Given the description of an element on the screen output the (x, y) to click on. 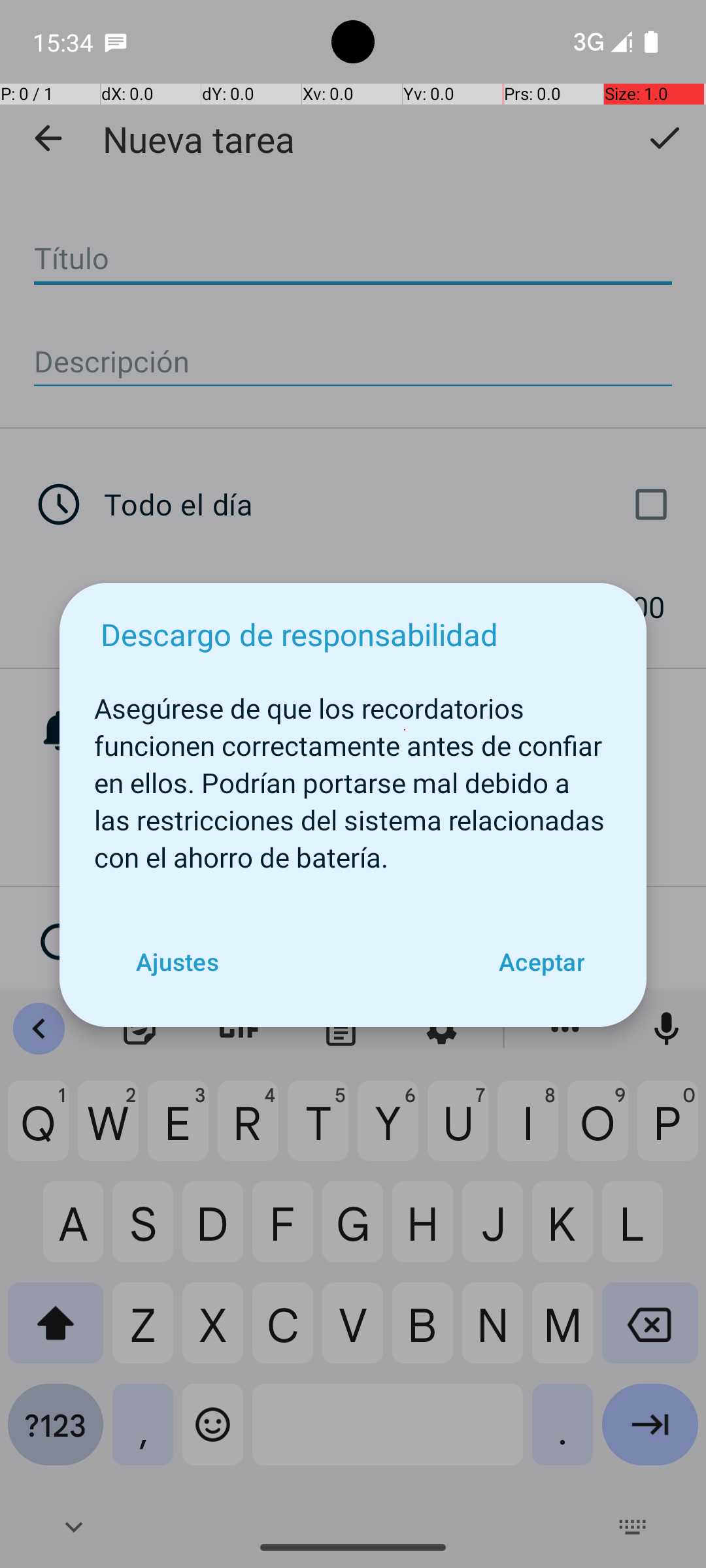
Descargo de responsabilidad Element type: android.widget.TextView (299, 633)
Asegúrese de que los recordatorios funcionen correctamente antes de confiar en ellos. Podrían portarse mal debido a las restricciones del sistema relacionadas con el ahorro de batería. Element type: android.widget.TextView (352, 775)
Aceptar Element type: android.widget.Button (541, 961)
